Given the description of an element on the screen output the (x, y) to click on. 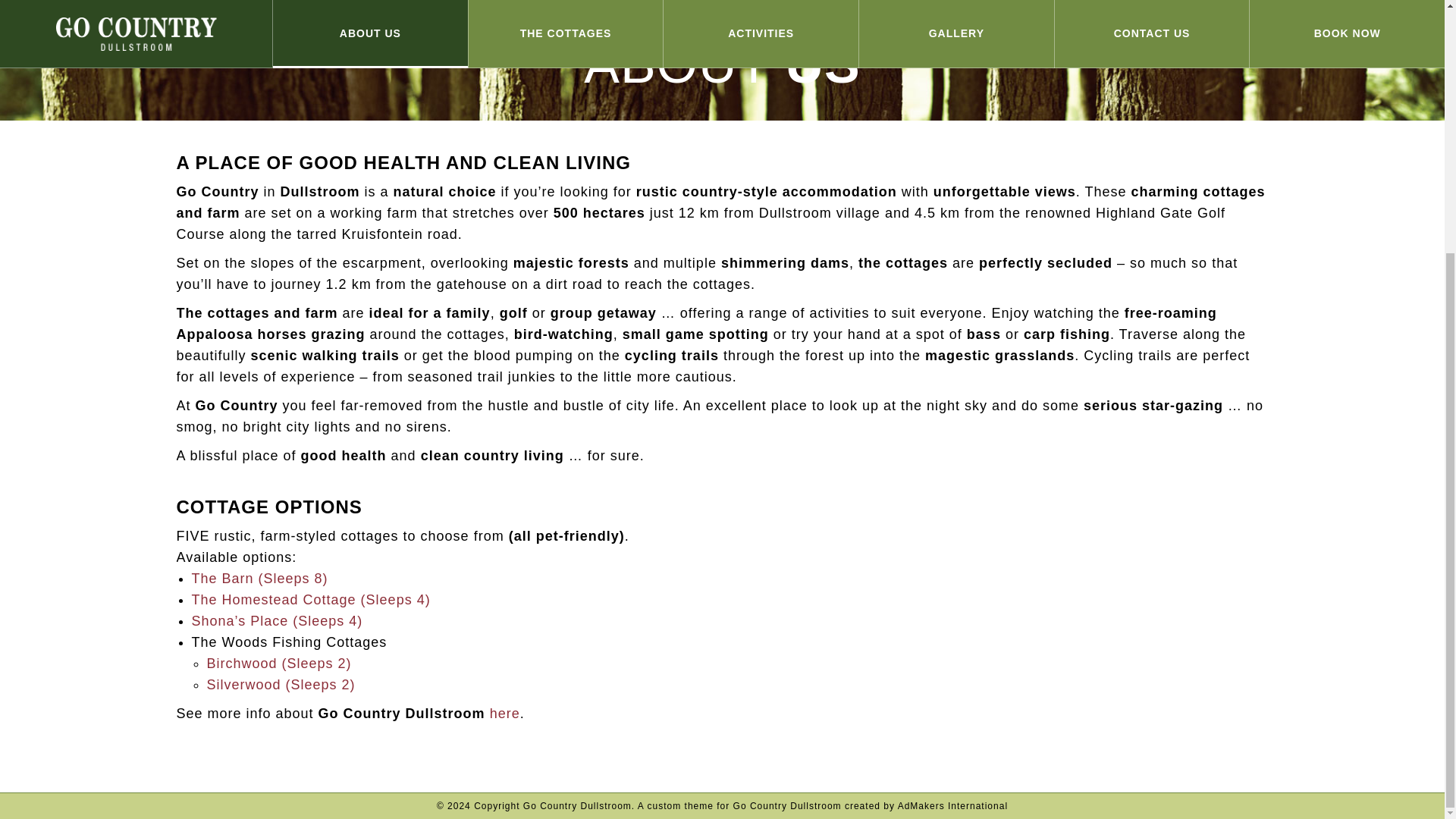
here (504, 713)
